Given the description of an element on the screen output the (x, y) to click on. 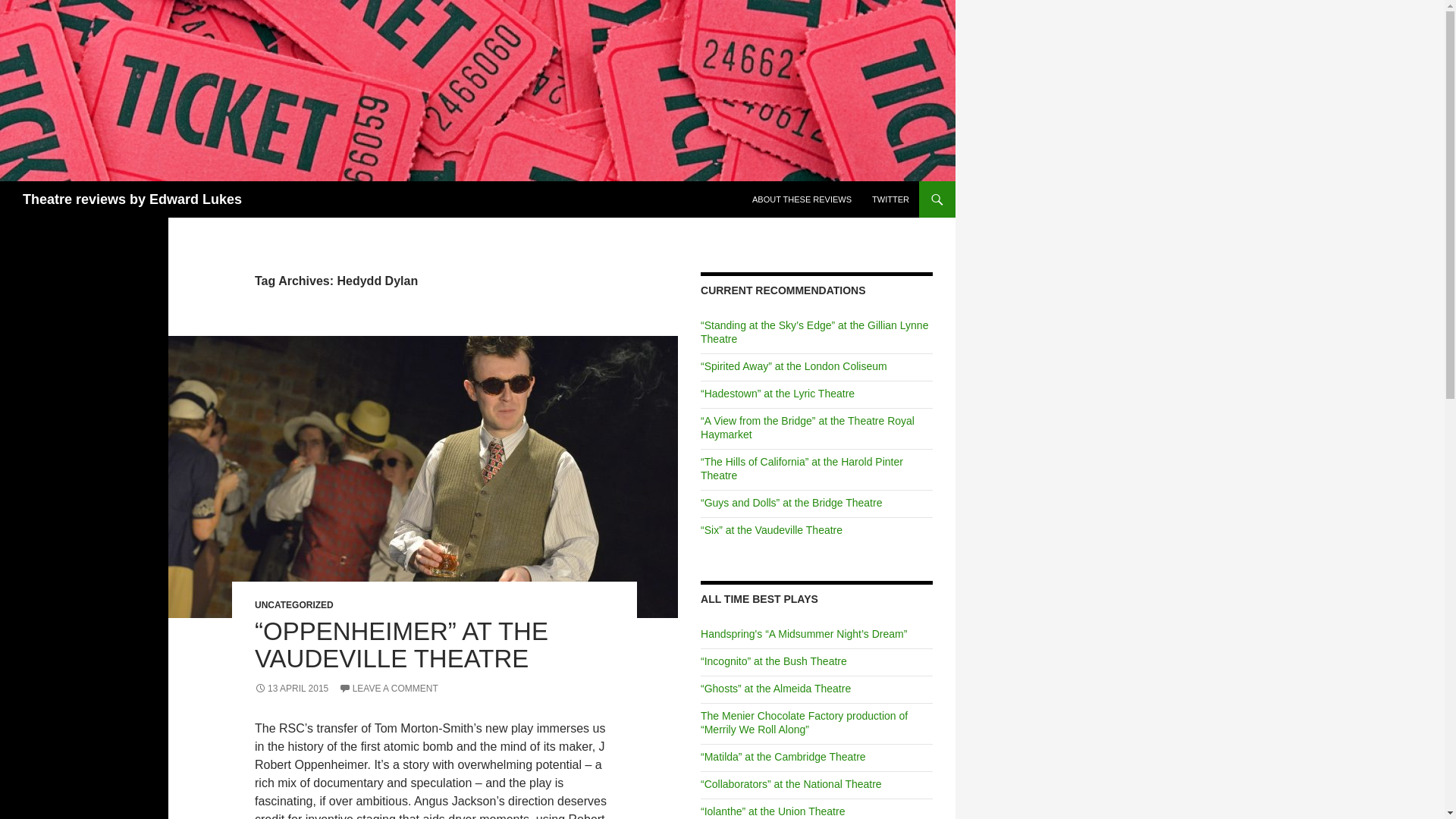
LEAVE A COMMENT (388, 688)
ABOUT THESE REVIEWS (801, 198)
13 APRIL 2015 (291, 688)
Theatre reviews by Edward Lukes (132, 198)
TWITTER (890, 198)
UNCATEGORIZED (293, 604)
